Given the description of an element on the screen output the (x, y) to click on. 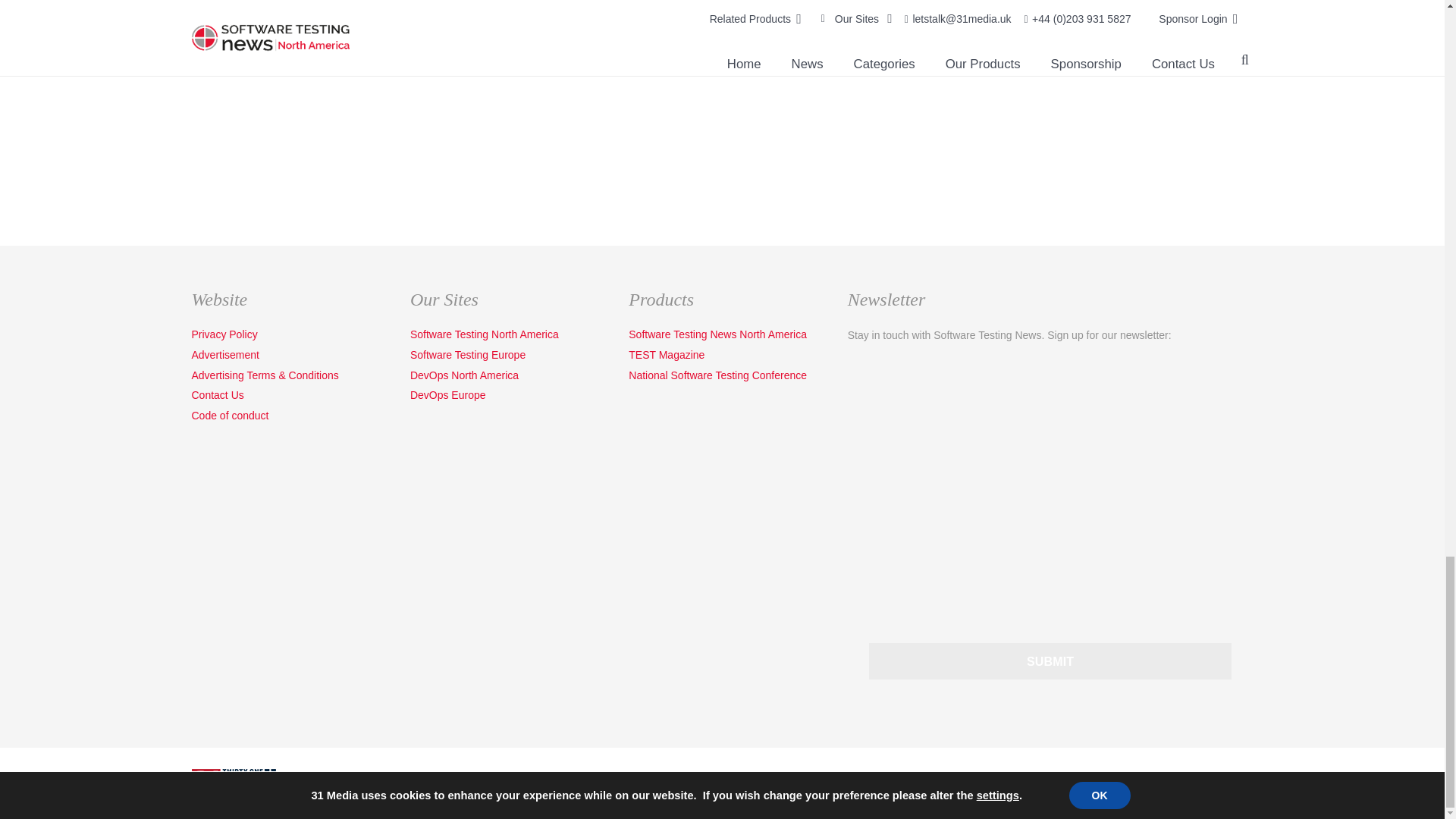
YouTube (1208, 783)
LinkedIn (1177, 783)
Facebook (1238, 783)
Twitter (1146, 783)
